Given the description of an element on the screen output the (x, y) to click on. 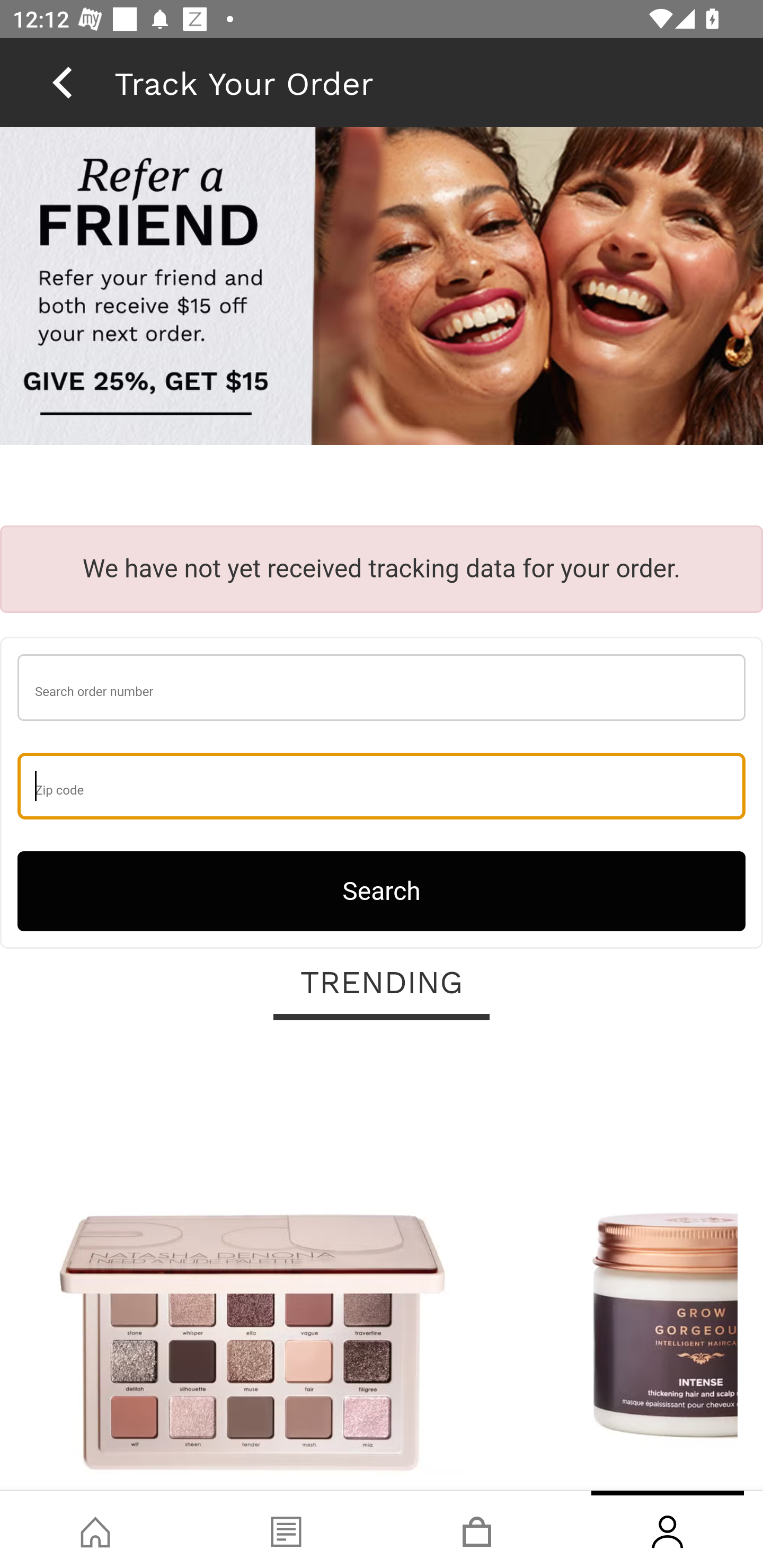
back (61, 82)
raf (381, 288)
Search (381, 890)
TRENDING (381, 983)
Natasha Denona I Need A Nude Palette (252, 1266)
Shop, tab, 1 of 4 (95, 1529)
Blog, tab, 2 of 4 (285, 1529)
Basket, tab, 3 of 4 (476, 1529)
Account, tab, 4 of 4 (667, 1529)
